Given the description of an element on the screen output the (x, y) to click on. 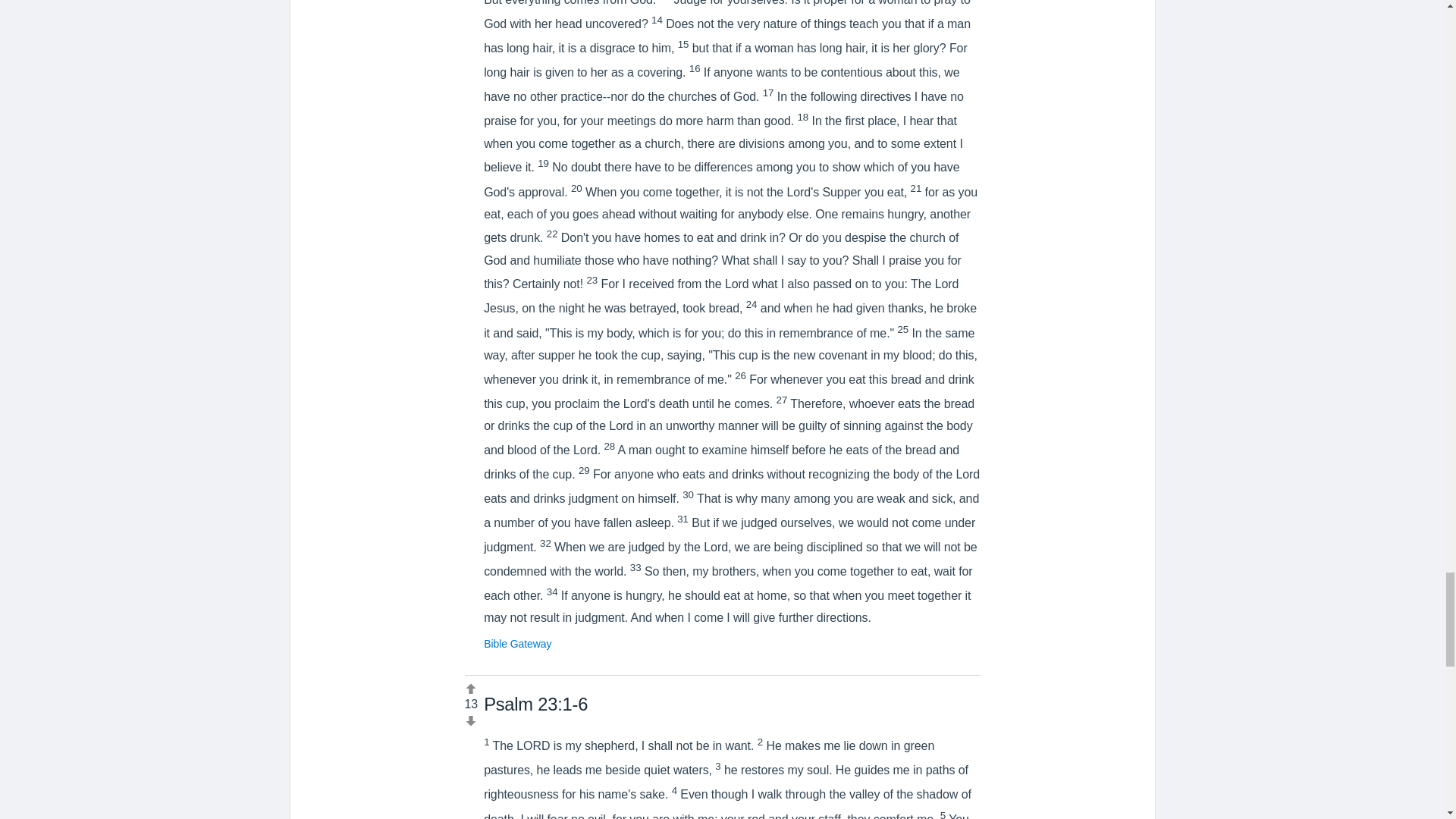
Bible Gateway (517, 644)
